Given the description of an element on the screen output the (x, y) to click on. 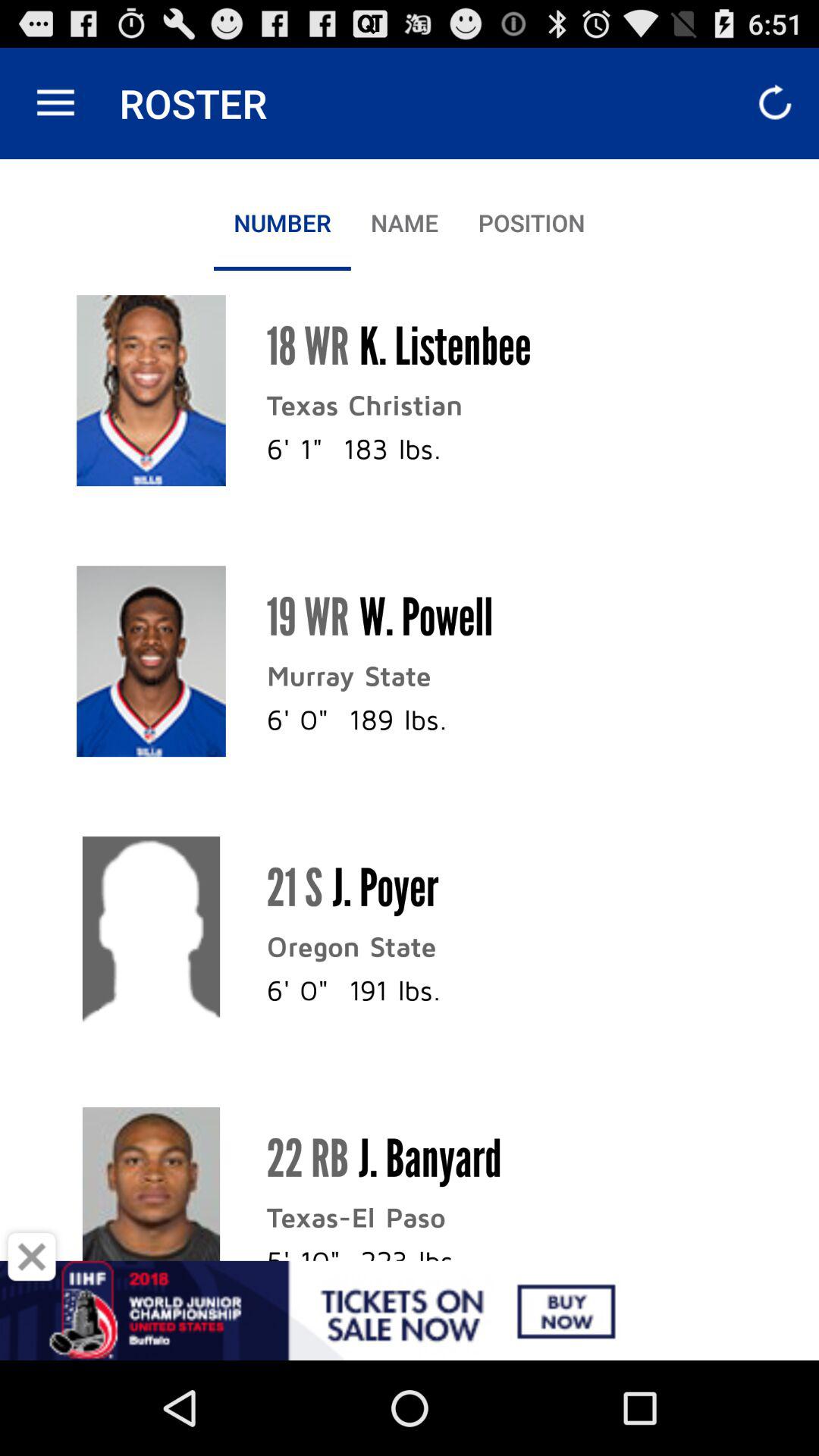
close advertisement (31, 1256)
